Given the description of an element on the screen output the (x, y) to click on. 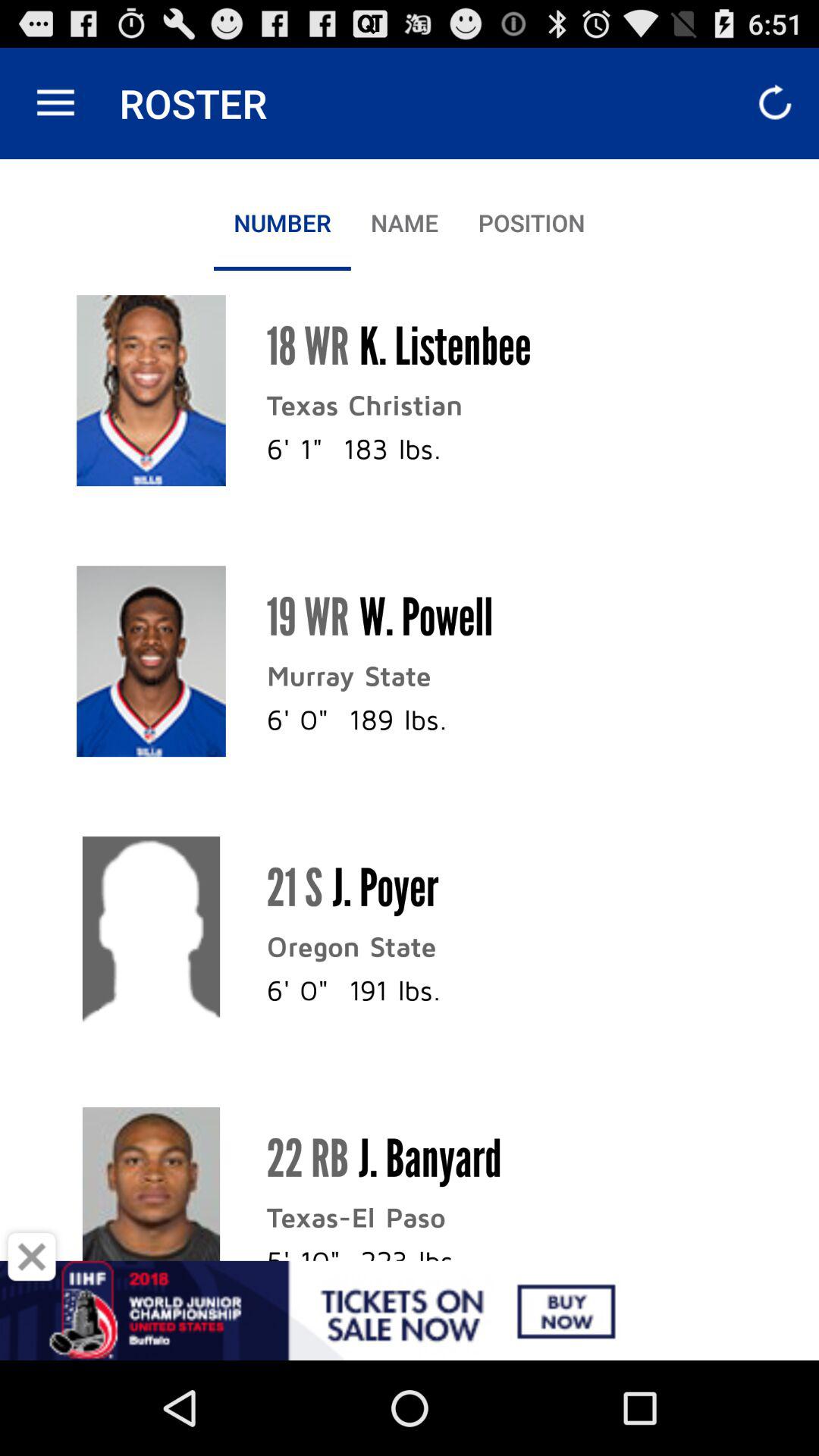
close advertisement (31, 1256)
